Given the description of an element on the screen output the (x, y) to click on. 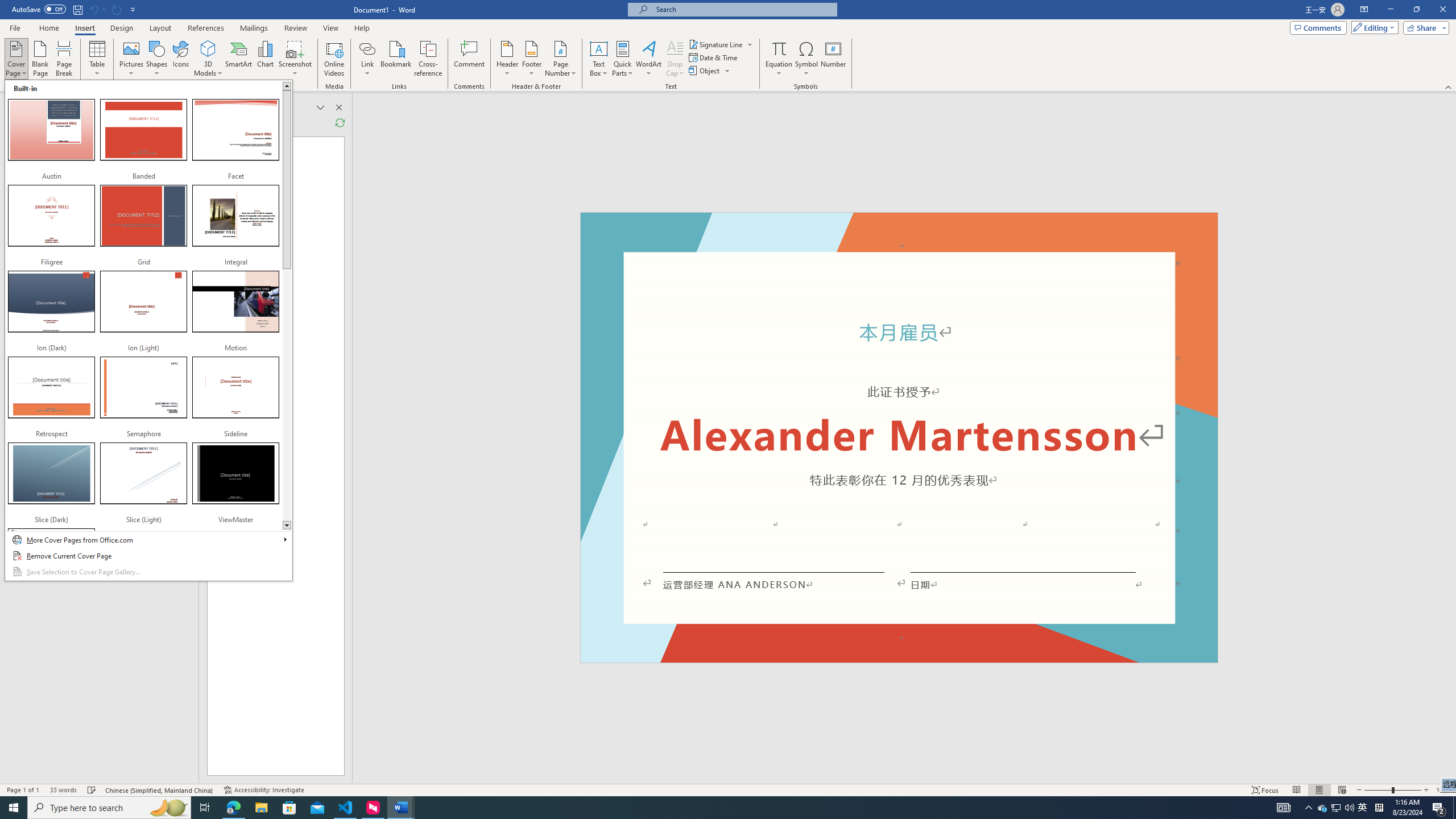
Q2790: 100% (1349, 807)
Online Videos... (333, 58)
Decorative (898, 437)
Link (367, 58)
Icons (1322, 807)
Footer -Section 1- (180, 58)
Pictures (898, 657)
Can't Undo (131, 58)
